Given the description of an element on the screen output the (x, y) to click on. 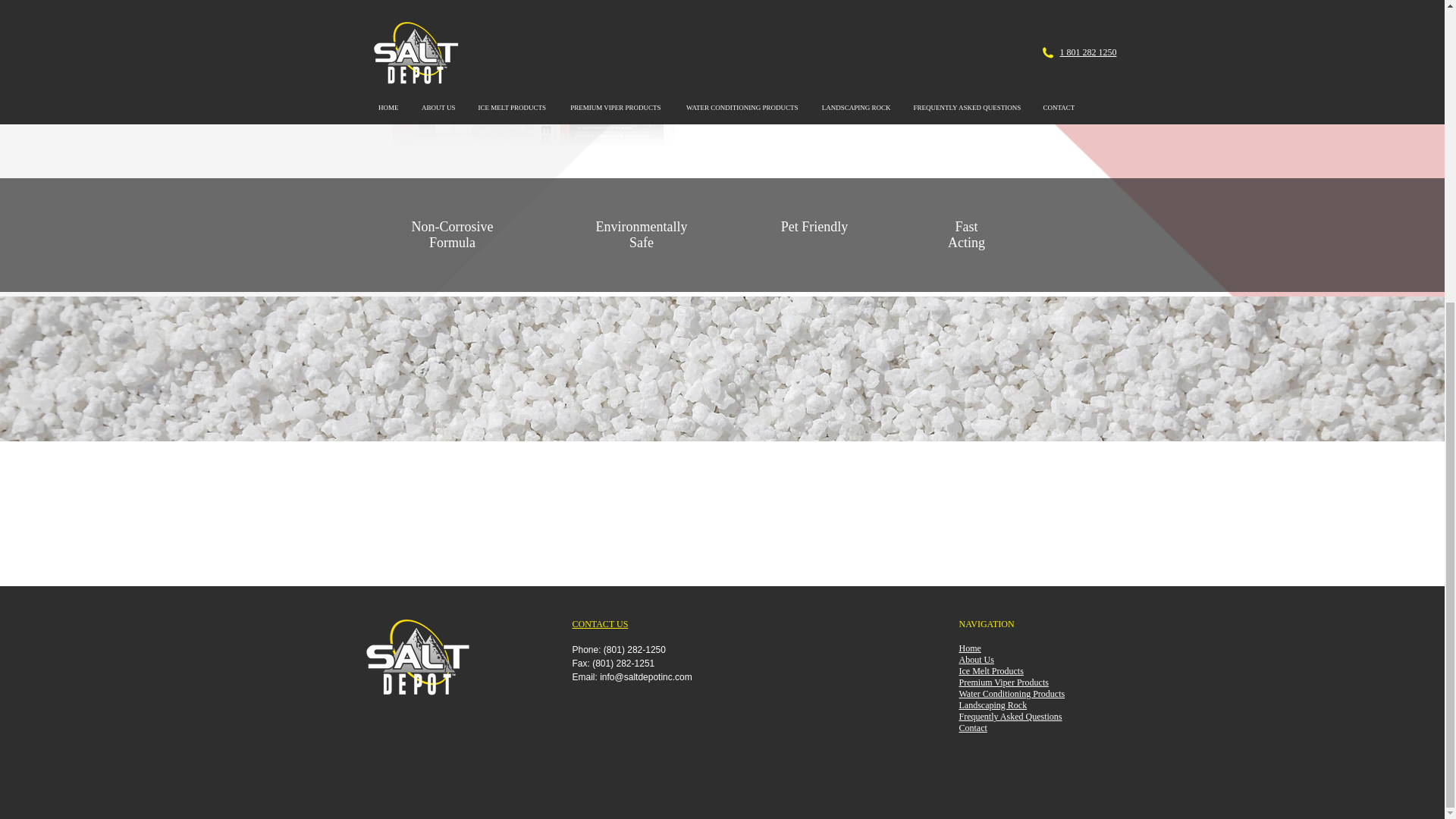
Download SDS (901, 59)
About Us (975, 659)
Water Conditioning Products (1011, 693)
Download Product Flyer (901, 100)
Ice Melt Products (990, 670)
Premium Viper Products (1003, 682)
CONTACT US (599, 624)
Landscaping Rock (992, 705)
Home (968, 647)
